Given the description of an element on the screen output the (x, y) to click on. 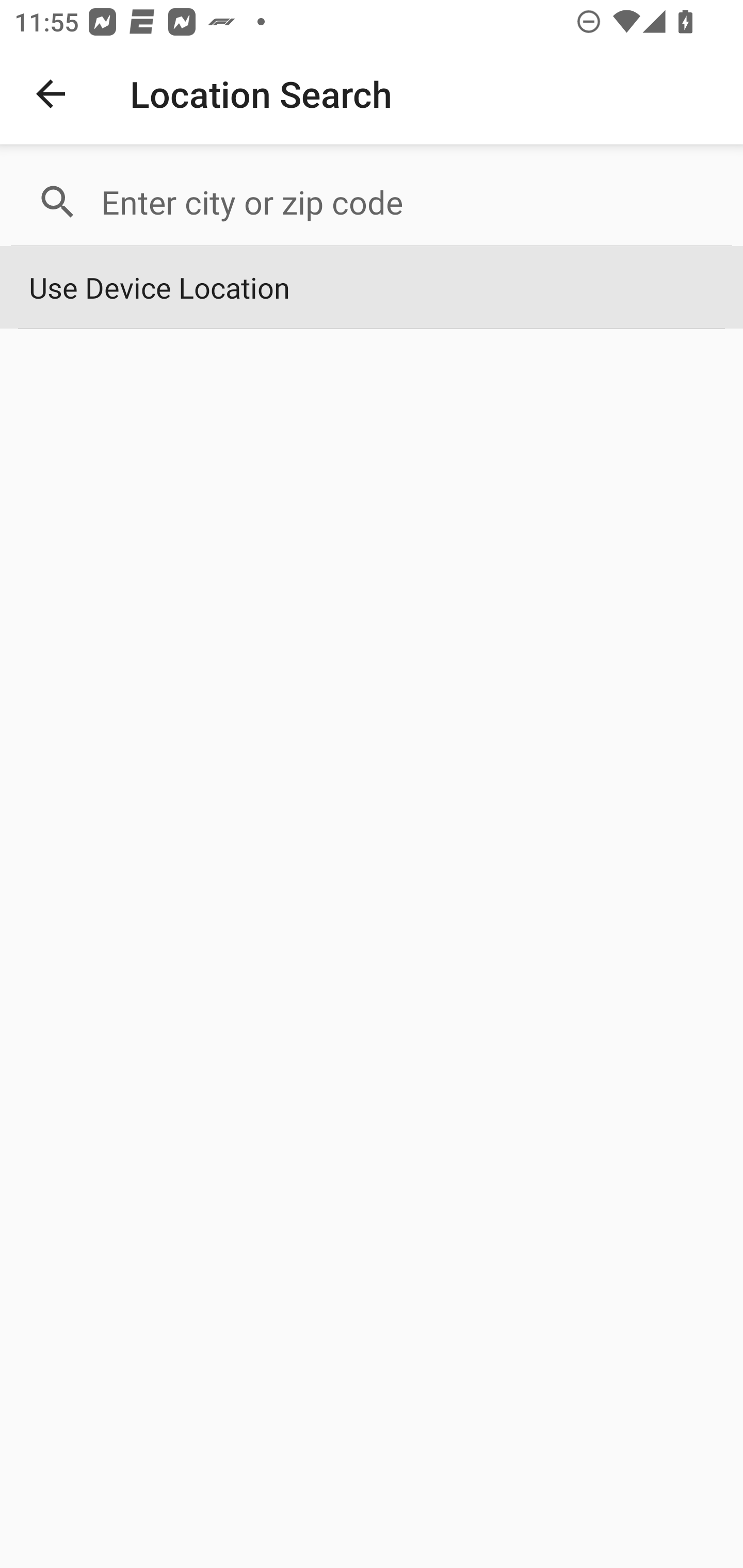
Navigate up (50, 93)
Enter city or zip code (407, 202)
Use Device Location (371, 287)
